Given the description of an element on the screen output the (x, y) to click on. 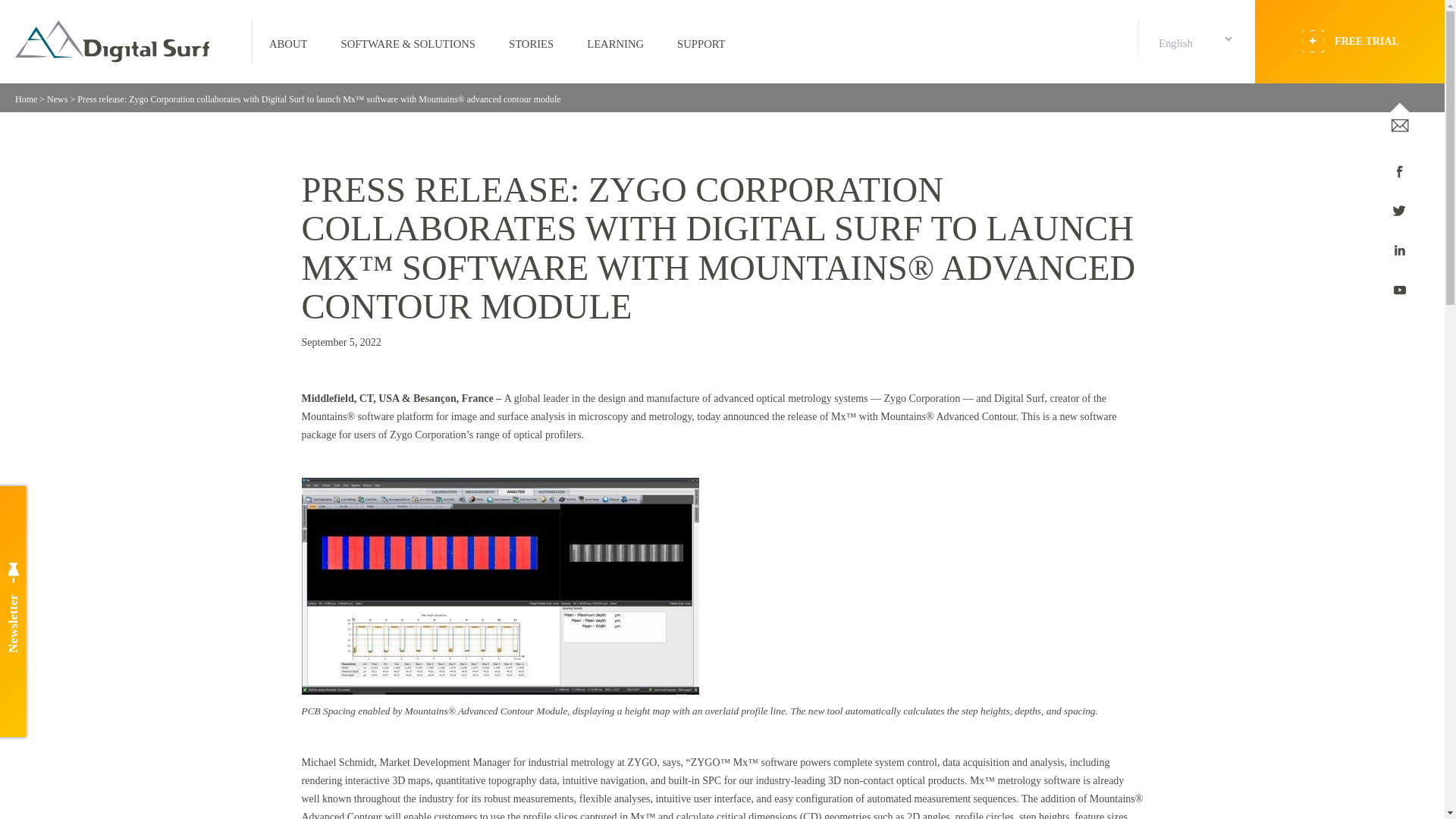
ABOUT (287, 41)
LEARNING (615, 41)
SUPPORT (701, 41)
STORIES (531, 41)
